Given the description of an element on the screen output the (x, y) to click on. 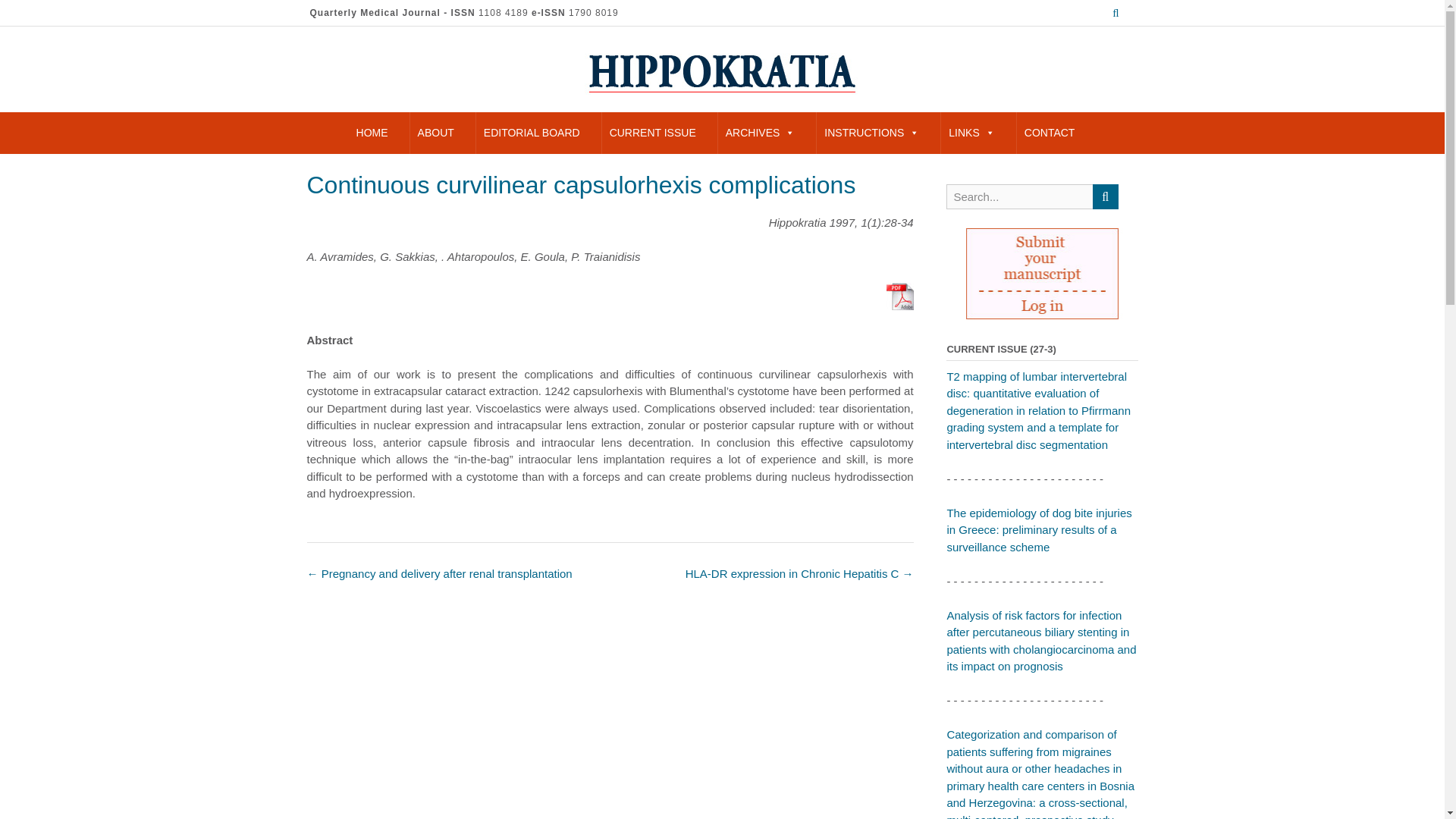
EDITORIAL BOARD (532, 132)
HOME (372, 132)
Search for: (1019, 196)
ARCHIVES (760, 132)
ABOUT (435, 132)
CURRENT ISSUE (652, 132)
